Given the description of an element on the screen output the (x, y) to click on. 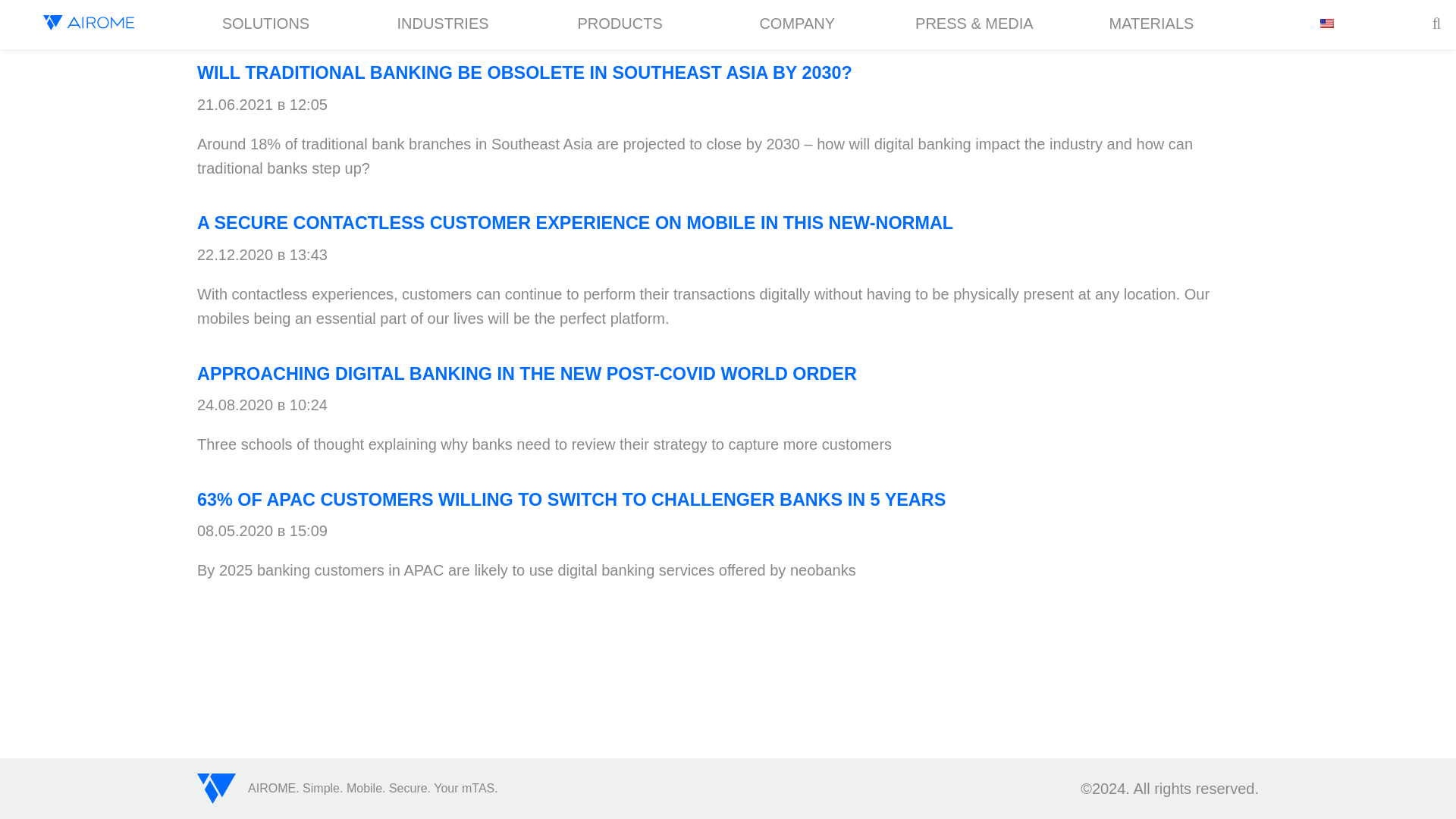
INDUSTRIES (442, 23)
COMPANY (796, 23)
MATERIALS (1151, 23)
PRODUCTS (620, 23)
SOLUTIONS (266, 23)
